Given the description of an element on the screen output the (x, y) to click on. 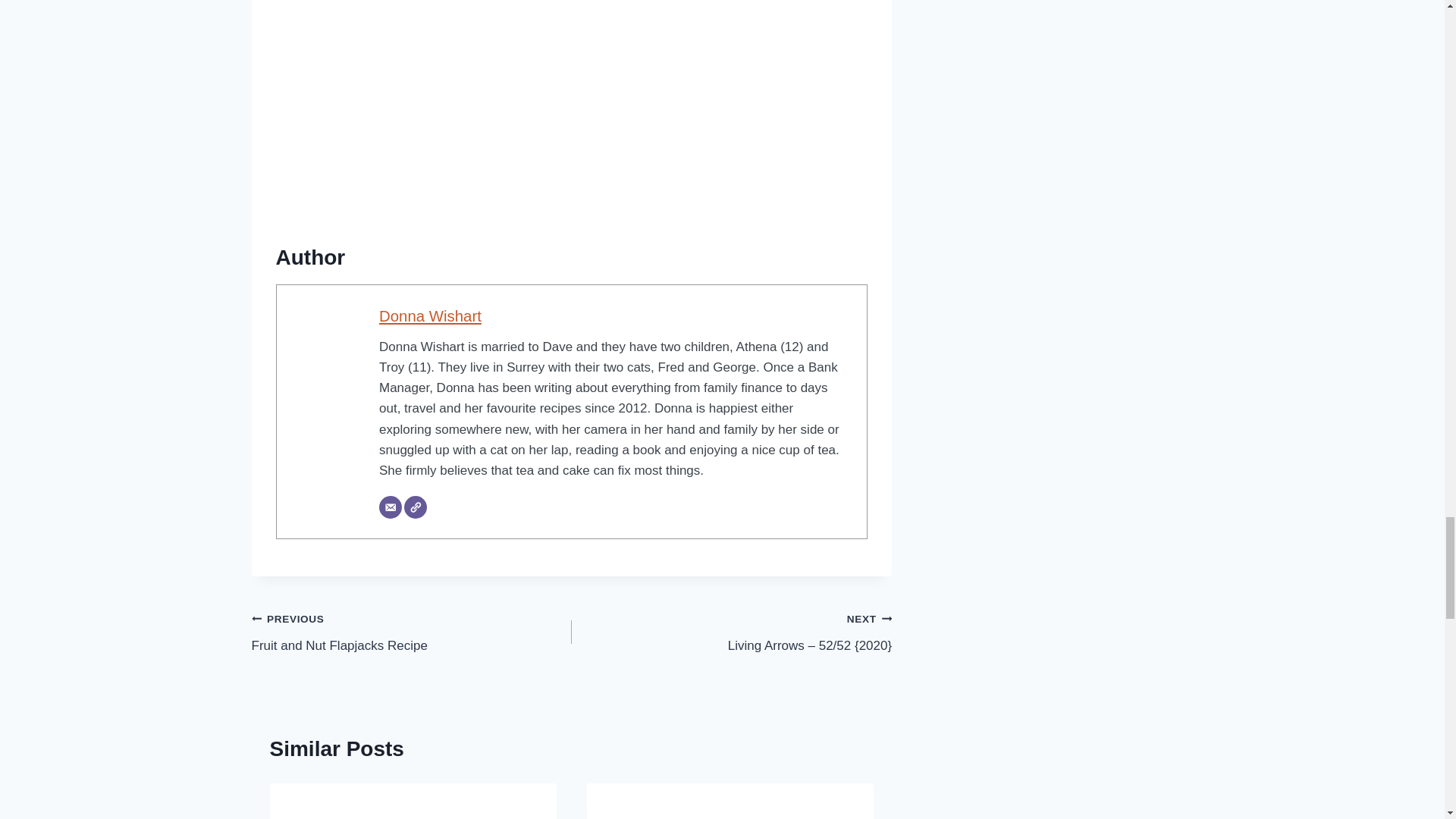
Donna Wishart (429, 315)
Donna Wishart (411, 632)
